Given the description of an element on the screen output the (x, y) to click on. 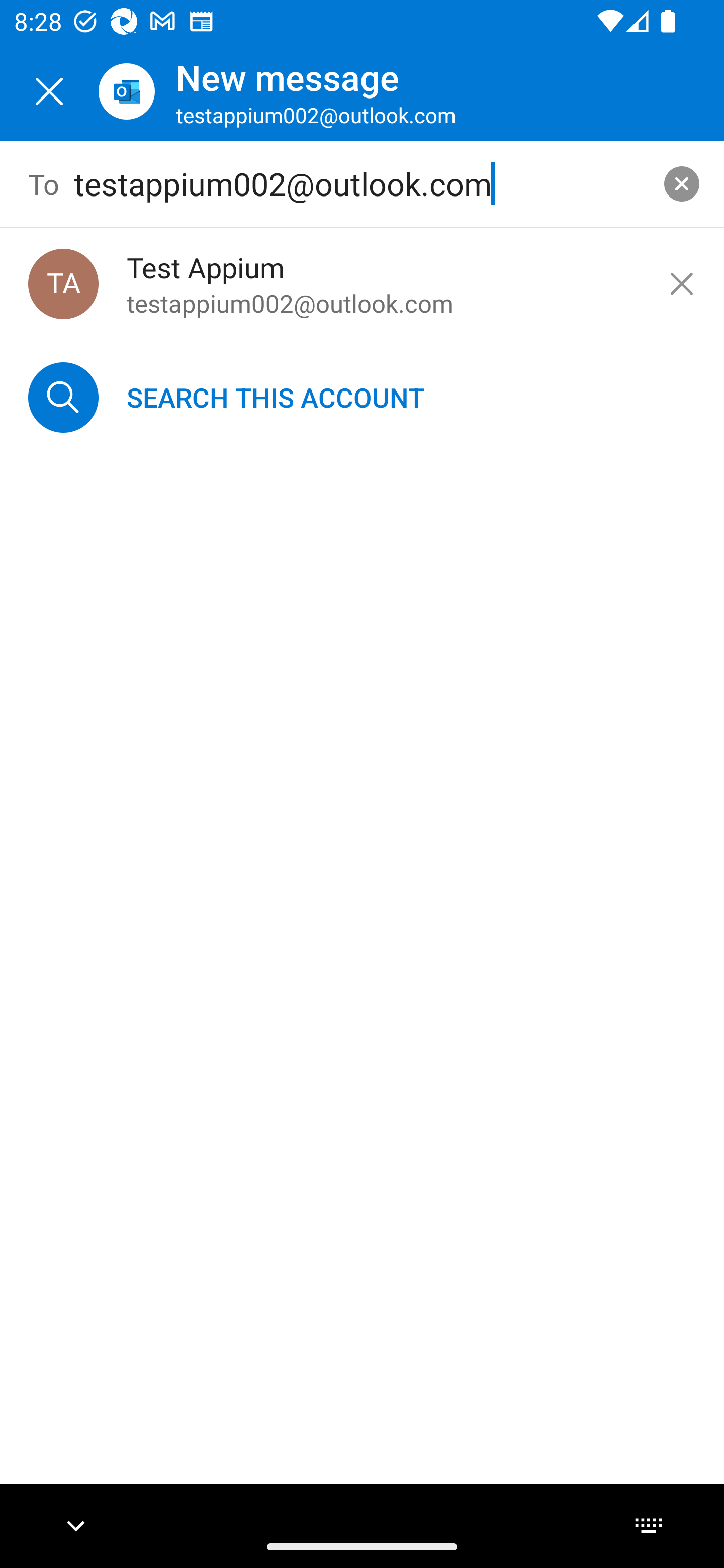
Close (49, 91)
testappium002@outlook.com (362, 184)
clear search (681, 183)
